Given the description of an element on the screen output the (x, y) to click on. 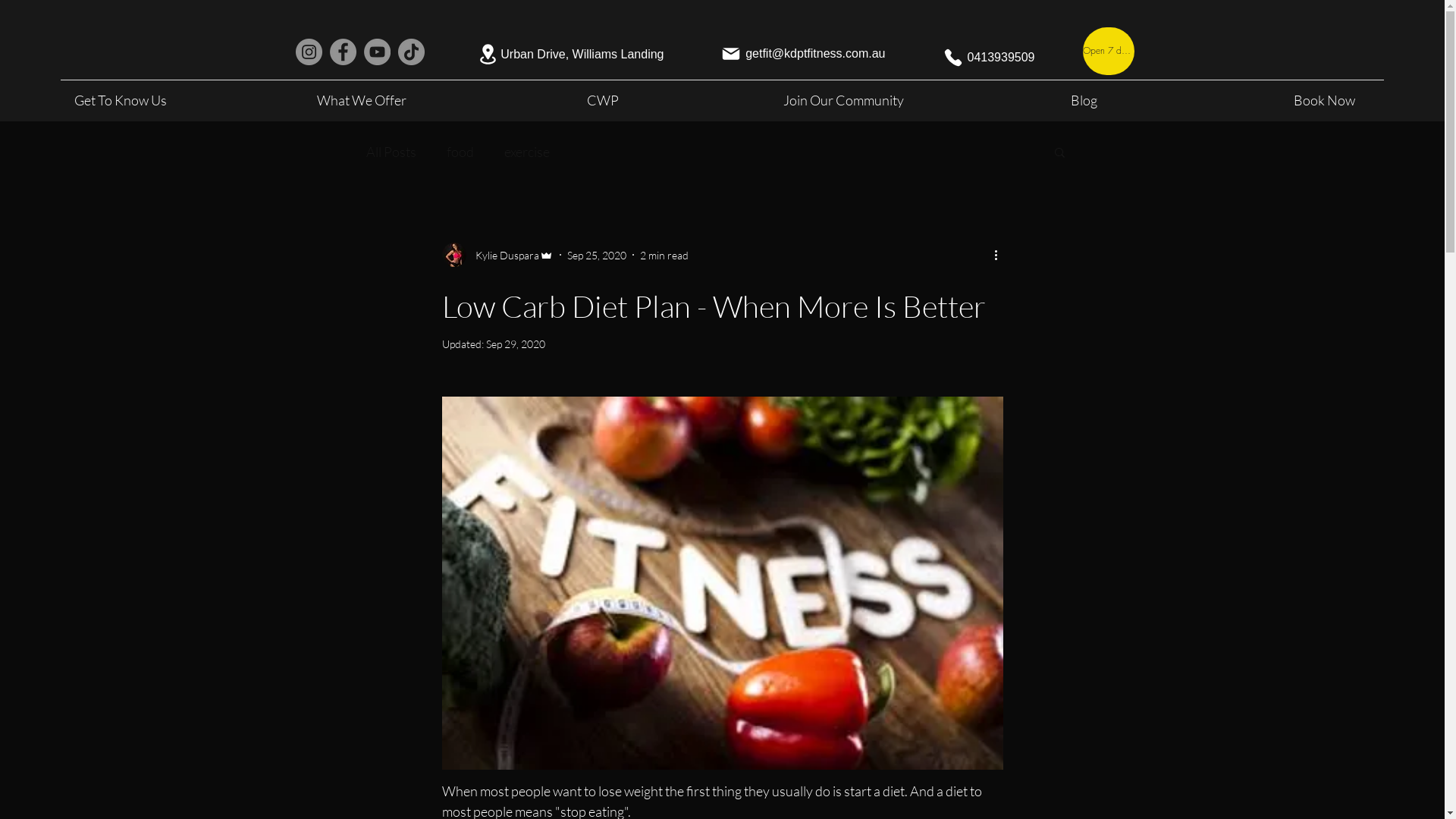
getfit@kdptfitness.com.au Element type: text (797, 53)
Blog Element type: text (1083, 99)
0413939509 Element type: text (984, 57)
All Posts Element type: text (390, 151)
Join Our Community Element type: text (843, 99)
Get To Know Us Element type: text (120, 99)
Open 7 days Element type: text (1108, 51)
exercise Element type: text (526, 151)
food Element type: text (459, 151)
Book Now Element type: text (1324, 99)
CWP Element type: text (602, 99)
Urban Drive, Williams Landing Element type: text (559, 54)
Kylie Duspara Element type: text (496, 254)
What We Offer Element type: text (361, 99)
